Given the description of an element on the screen output the (x, y) to click on. 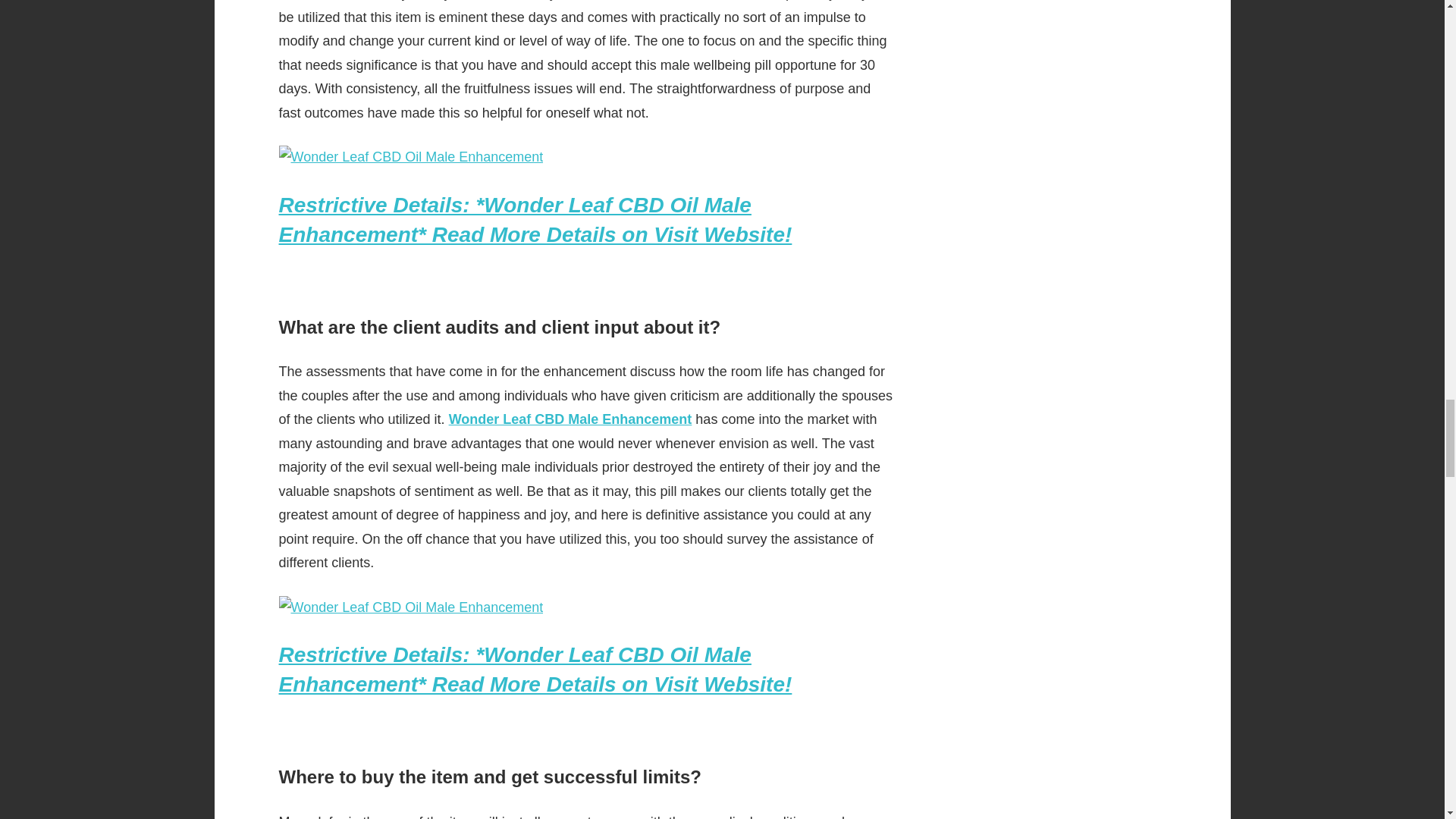
Wonder Leaf CBD Male Enhancement (570, 418)
